Given the description of an element on the screen output the (x, y) to click on. 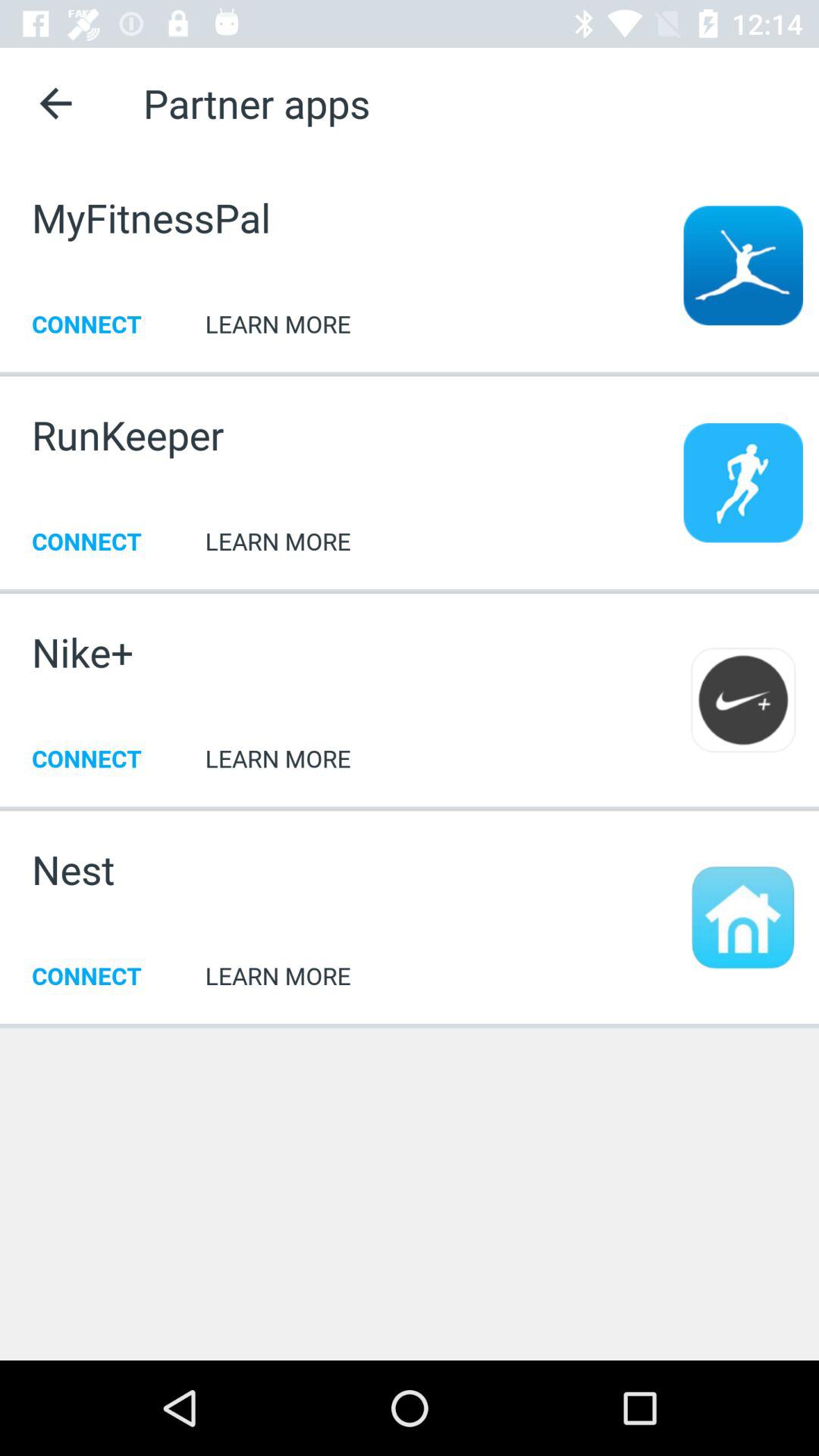
turn off the icon above the connect item (73, 869)
